Given the description of an element on the screen output the (x, y) to click on. 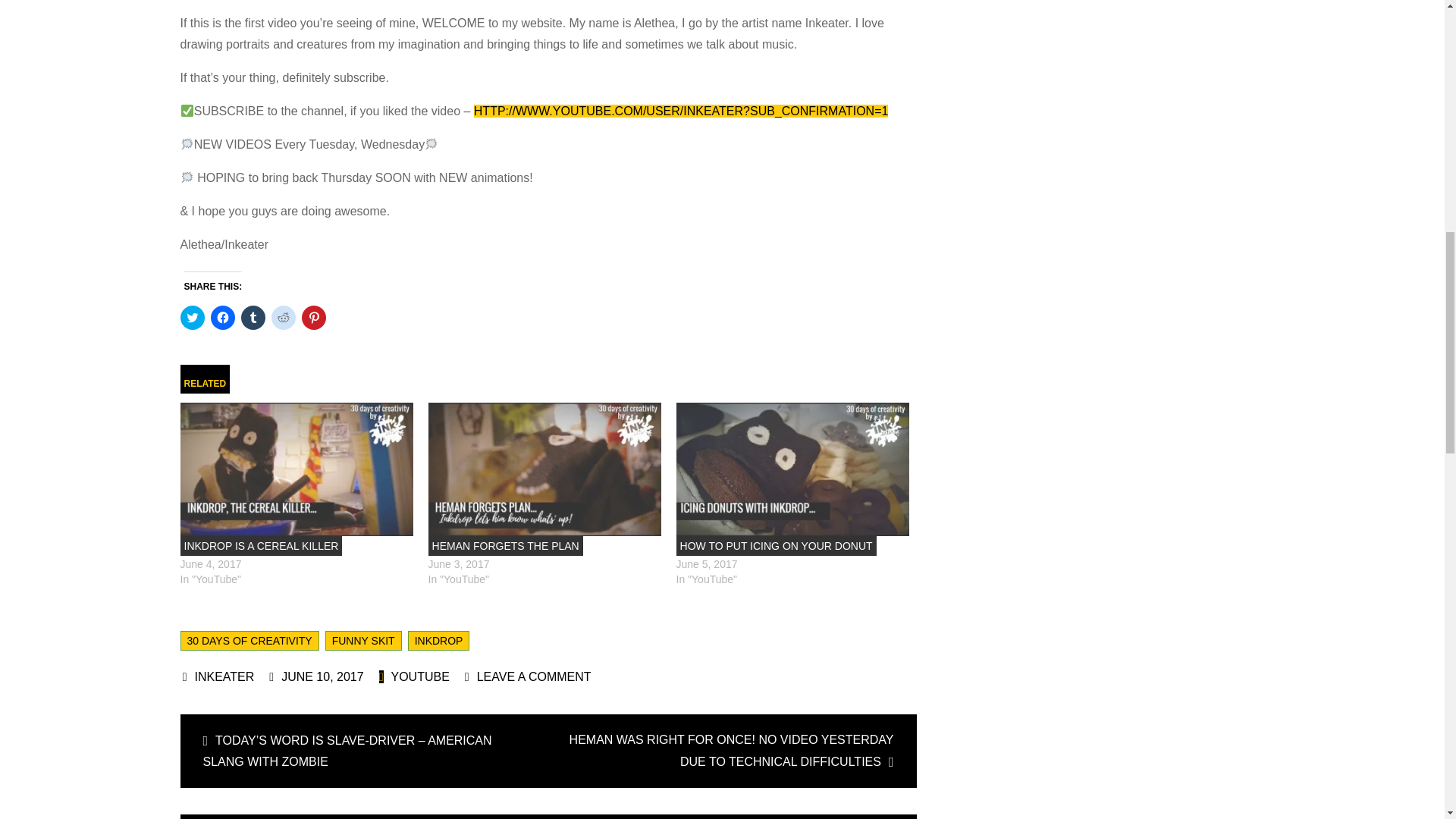
JUNE 10, 2017 (315, 676)
Heman forgets the plan (544, 468)
INKDROP IS A CEREAL KILLER (261, 546)
30 DAYS OF CREATIVITY (249, 640)
Click to share on Tumblr (252, 317)
Inkdrop is a Cereal Killer (296, 468)
Click to share on Reddit (282, 317)
Click to share on Pinterest (313, 317)
How to Put Icing on Your Donut (792, 468)
How to Put Icing on Your Donut (776, 546)
Heman forgets the plan (505, 546)
Click to share on Facebook (222, 317)
INKDROP (438, 640)
